Given the description of an element on the screen output the (x, y) to click on. 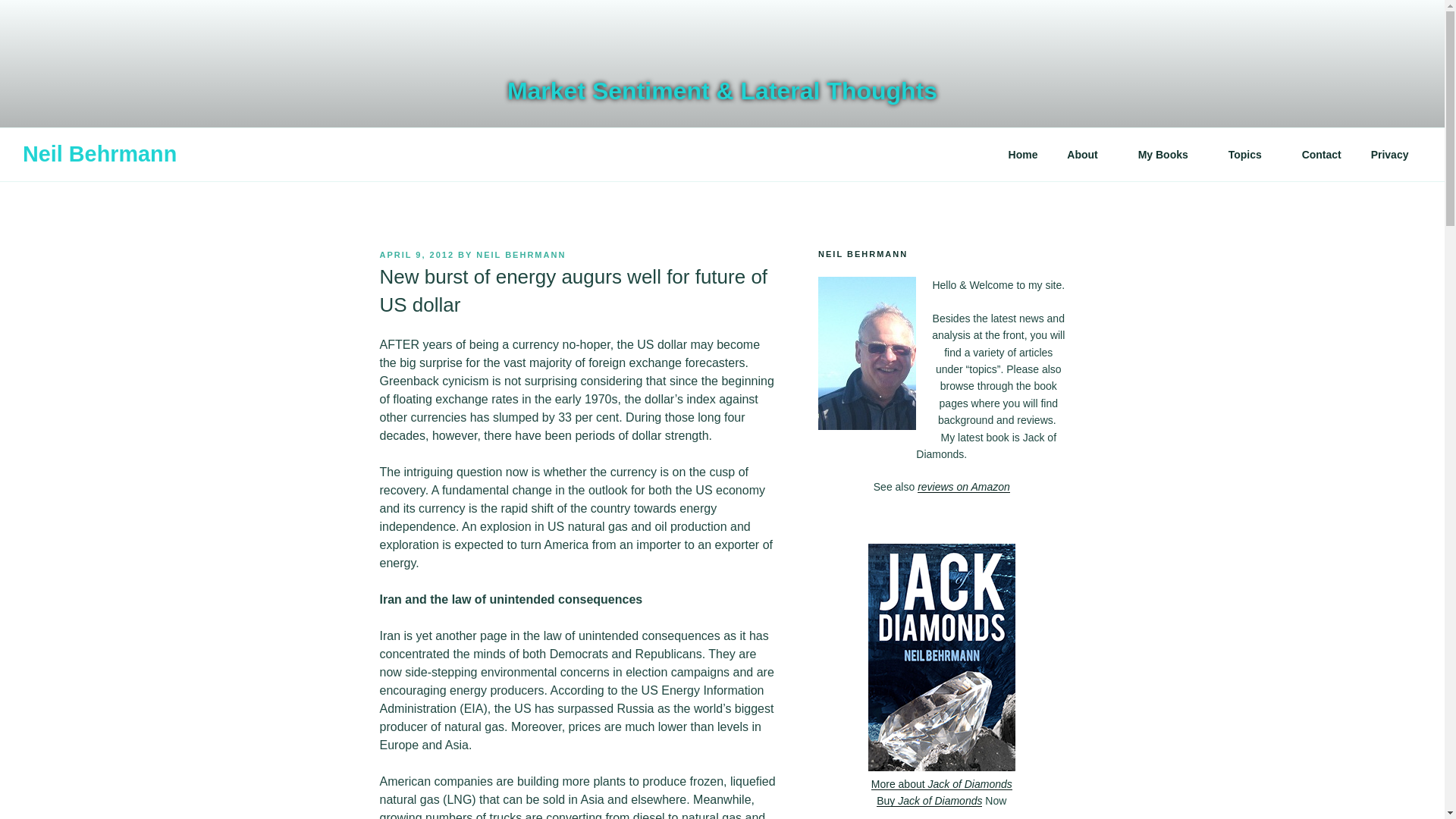
Home (1022, 154)
Neil Behrmann (99, 154)
My Books (1167, 154)
NEIL BEHRMANN (521, 254)
APRIL 9, 2012 (416, 254)
Topics (1249, 154)
More about Jack of Diamonds (942, 792)
Privacy (1389, 154)
reviews on Amazon (963, 486)
